Given the description of an element on the screen output the (x, y) to click on. 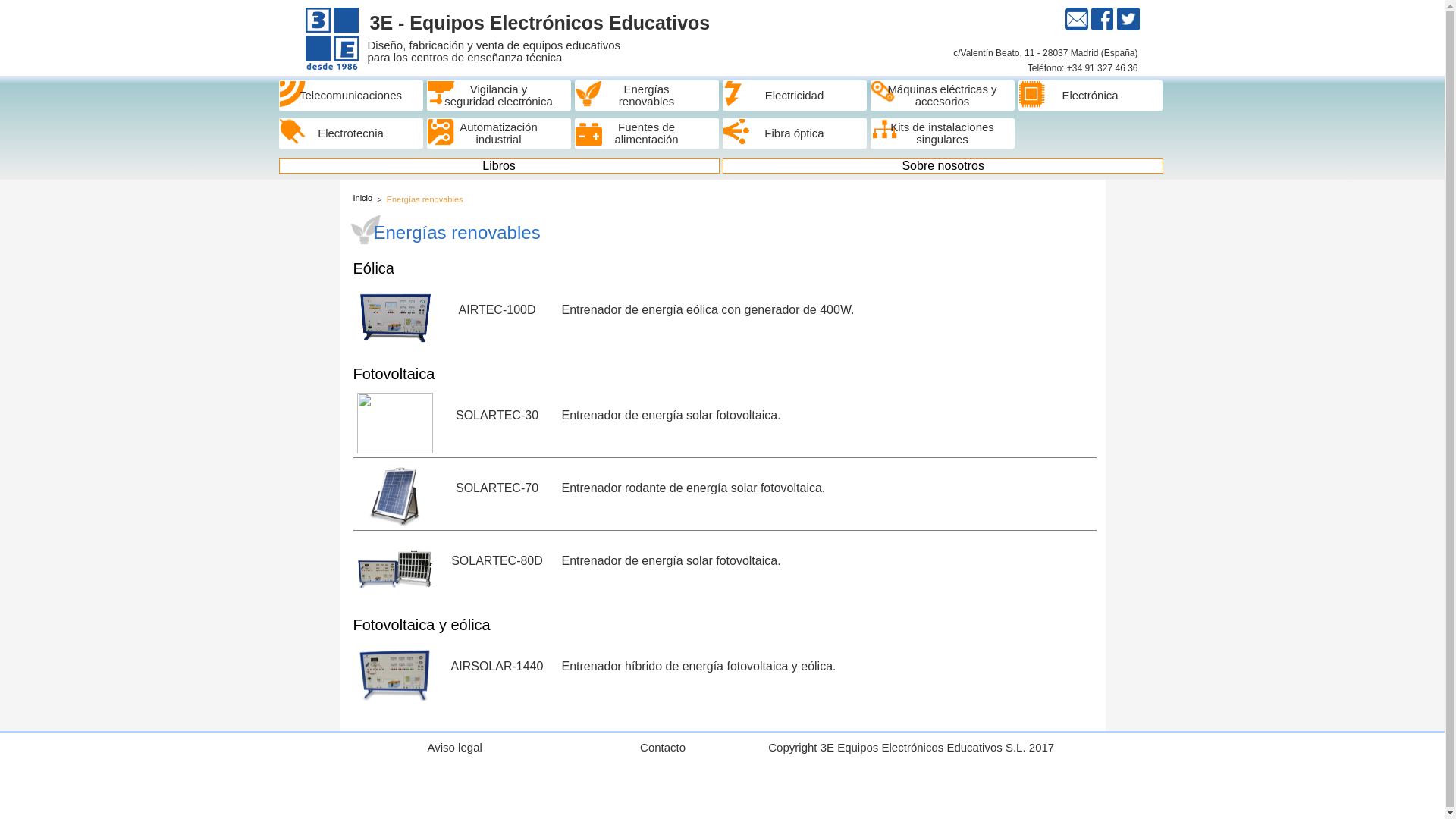
Libros Element type: text (498, 165)
Contacto Element type: text (662, 747)
Telecomunicaciones Element type: text (351, 95)
Sobre nosotros Element type: text (942, 165)
Inicio Element type: text (362, 197)
Electrotecnia Element type: text (351, 133)
Kits de instalaciones singulares Element type: text (942, 133)
Electricidad Element type: text (794, 95)
Aviso legal Element type: text (454, 747)
